Given the description of an element on the screen output the (x, y) to click on. 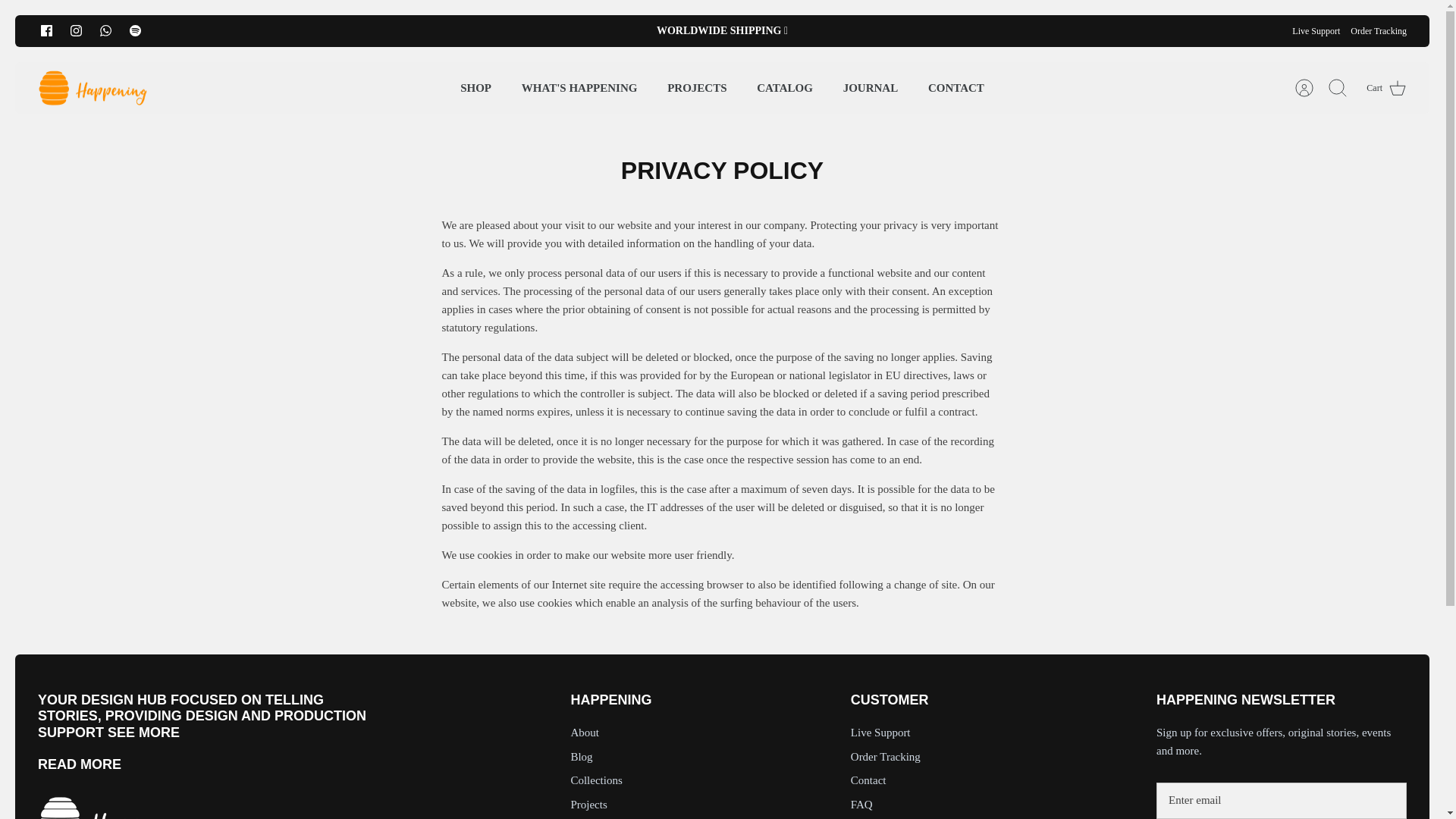
Instagram (75, 30)
Facebook (46, 30)
JOURNAL (870, 88)
Search (1337, 87)
About (78, 764)
CATALOG (784, 88)
Live Support (1315, 30)
CONTACT (955, 88)
Happening 2023 (92, 88)
SHOP (475, 88)
PROJECTS (696, 88)
Cart (1380, 87)
Facebook (46, 30)
Account (1303, 87)
Instagram (75, 30)
